Given the description of an element on the screen output the (x, y) to click on. 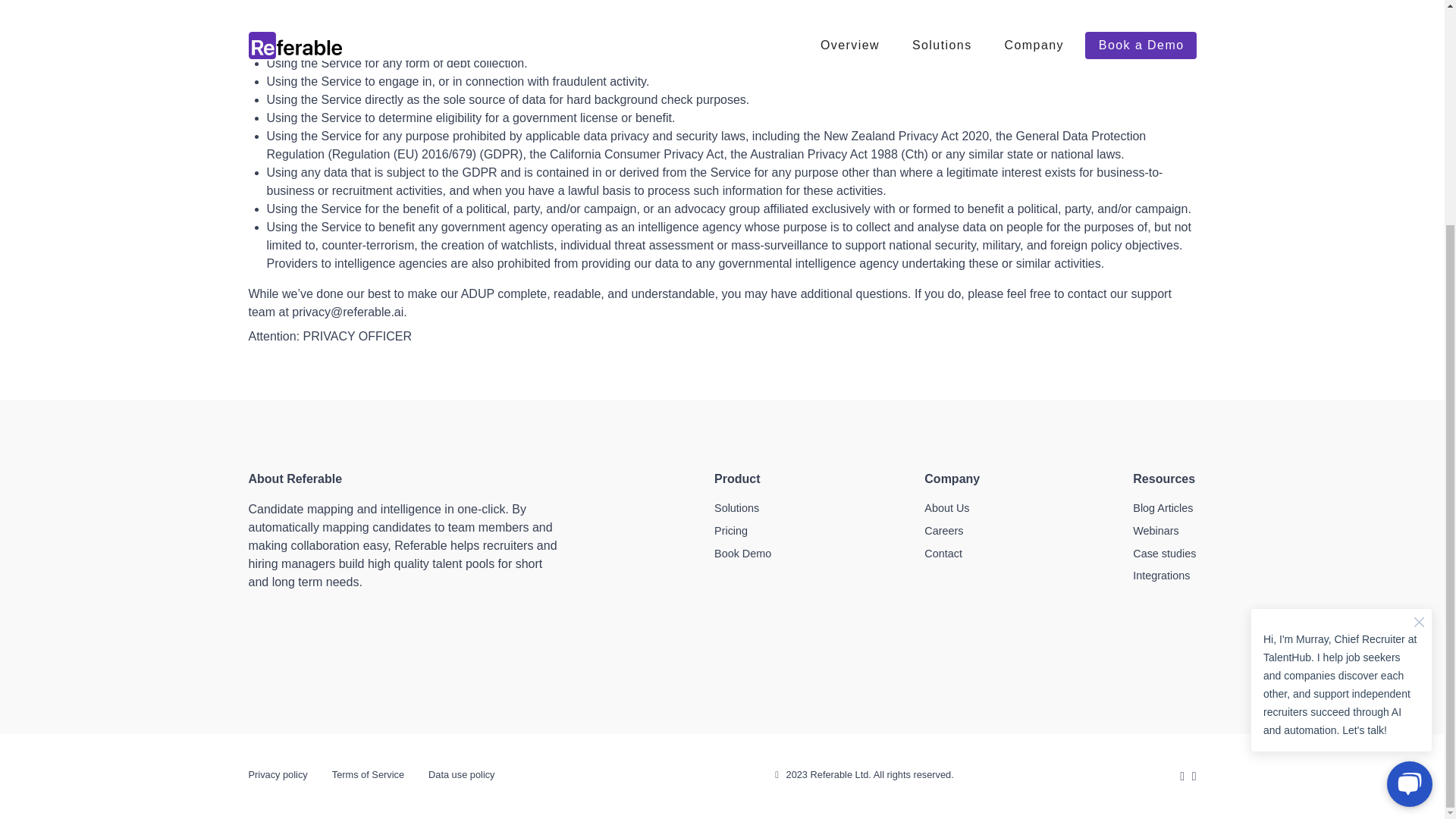
About Us (946, 508)
Solutions (736, 508)
Book Demo (742, 553)
Terms of Service (367, 776)
Careers (943, 530)
Blog Articles (1162, 508)
Pricing (731, 530)
Contact (943, 553)
Privacy policy (277, 776)
Data use policy (461, 776)
